Given the description of an element on the screen output the (x, y) to click on. 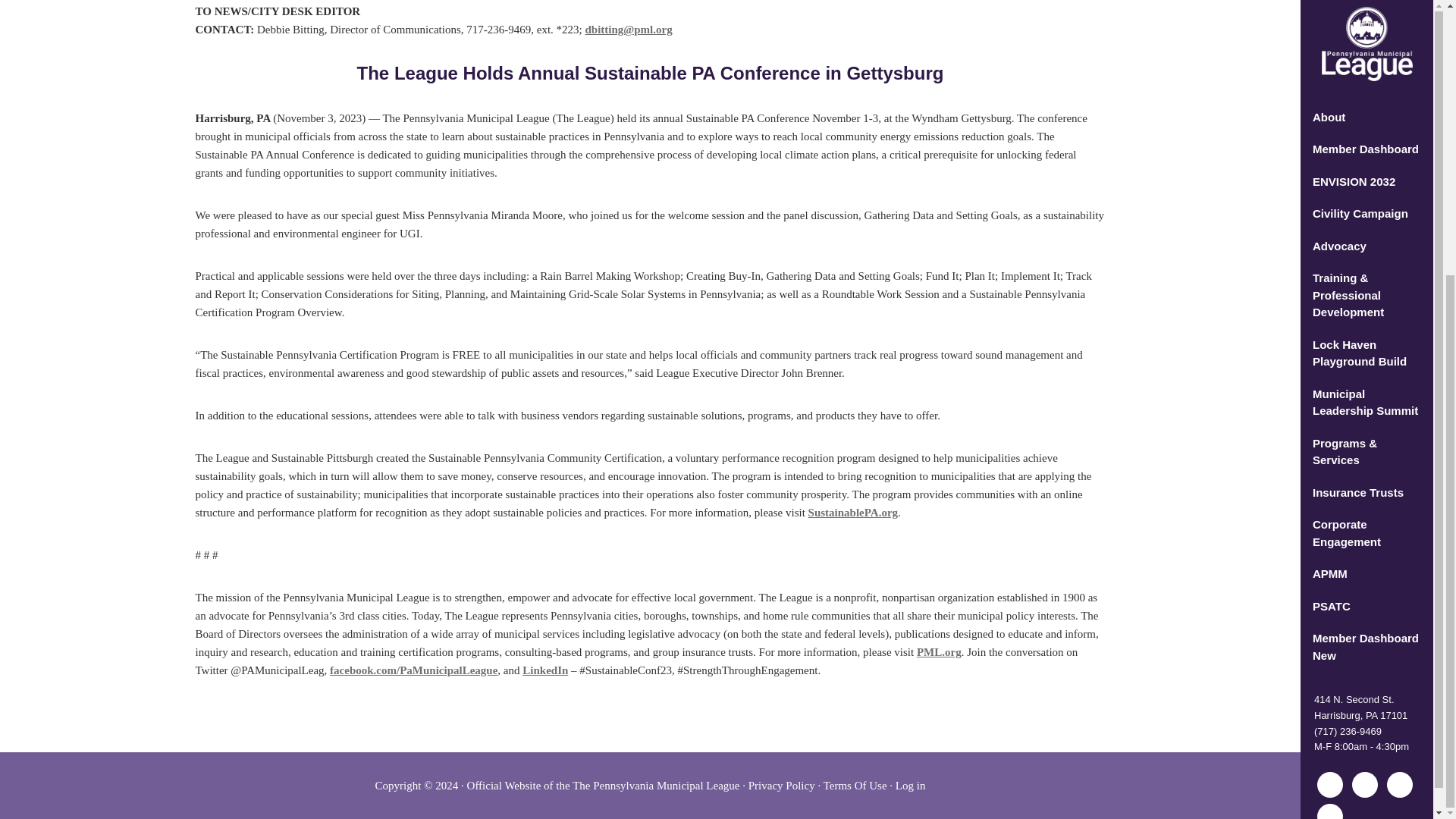
Default Label (1364, 378)
Default Label (1329, 378)
Default Label (1399, 378)
Municipal Leadership Summit (1366, 11)
